Given the description of an element on the screen output the (x, y) to click on. 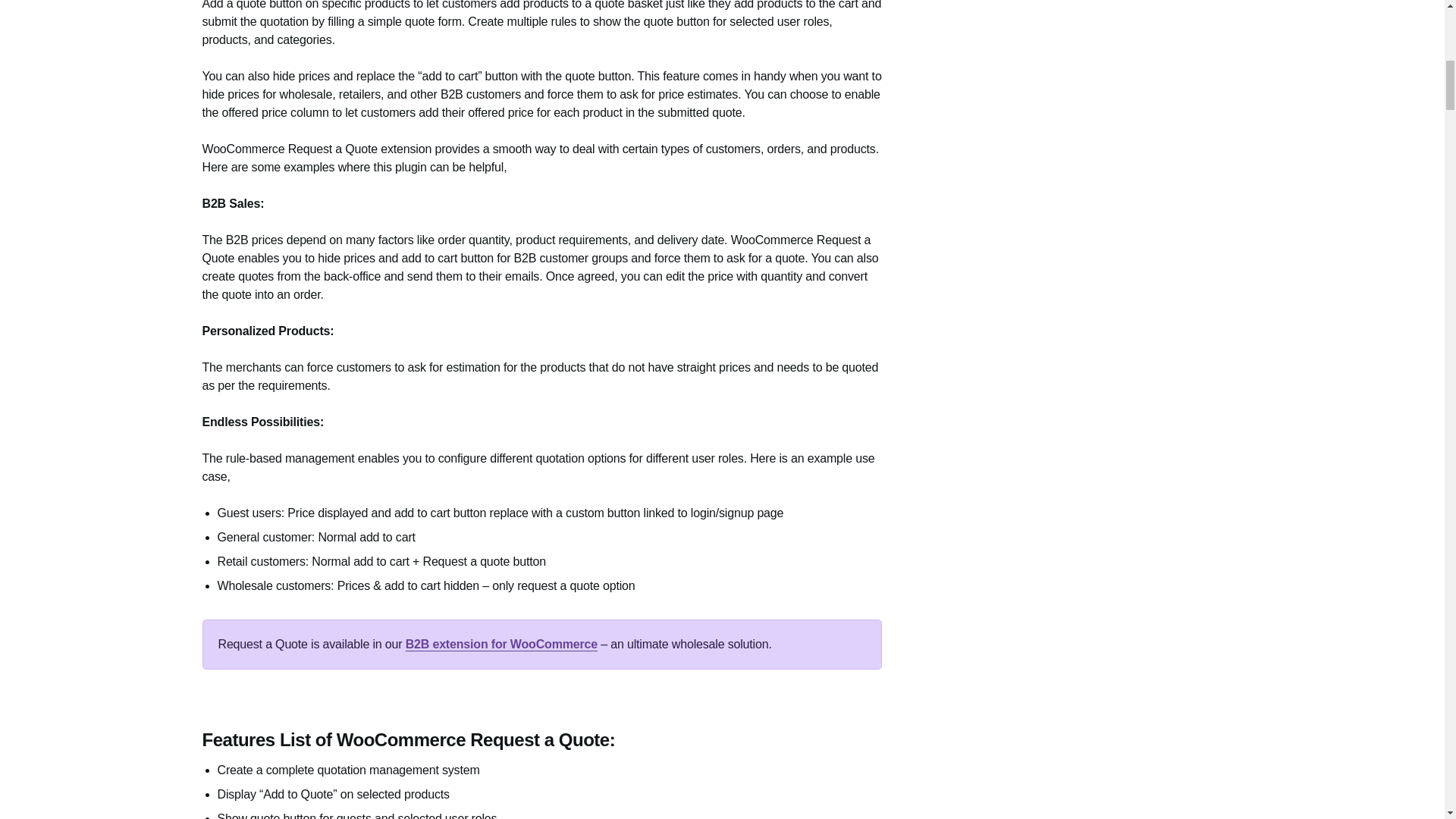
B2B extension for WooCommerce (501, 644)
